Given the description of an element on the screen output the (x, y) to click on. 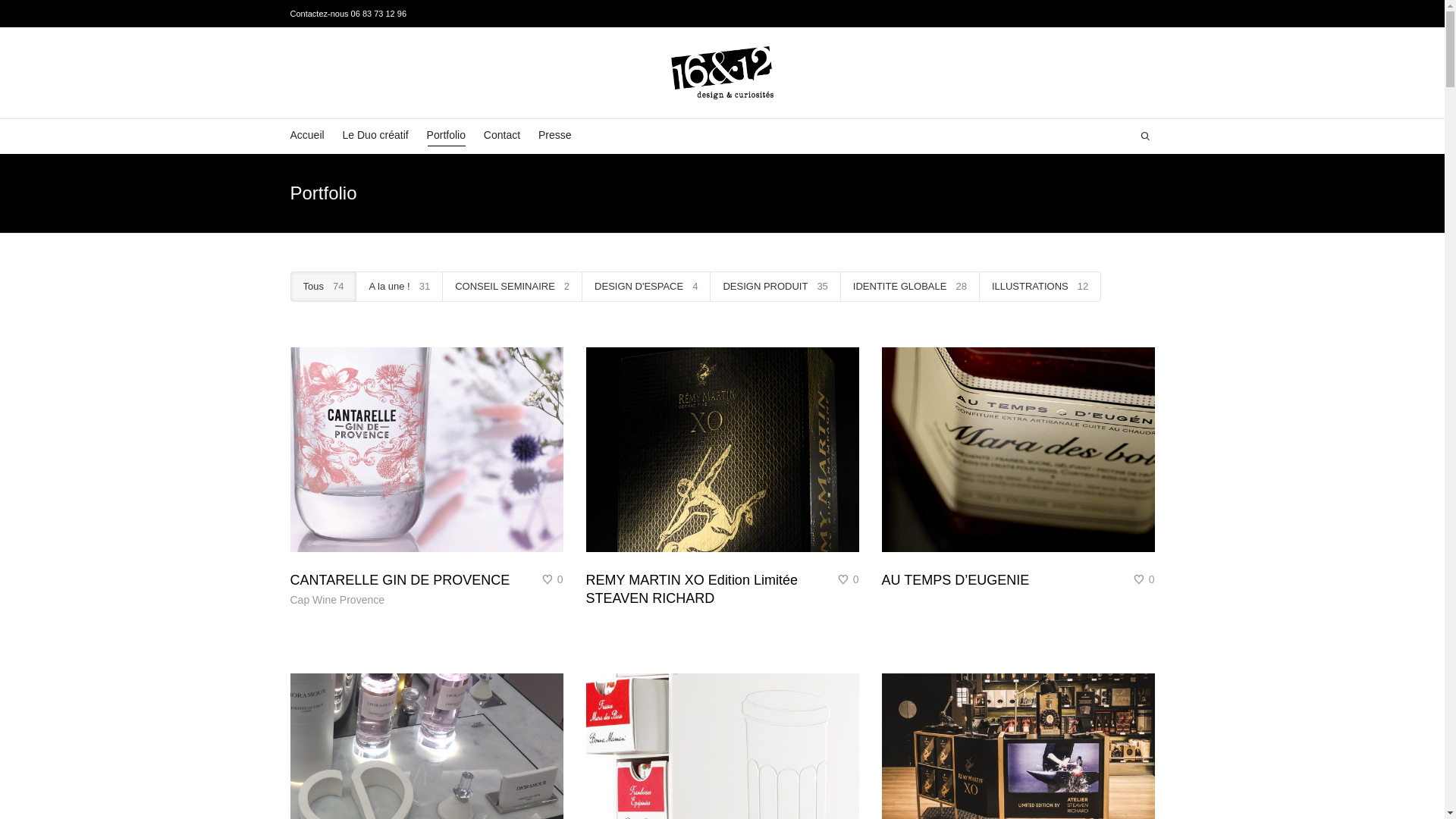
CANTARELLE GIN DE PROVENCE Element type: text (399, 579)
DESIGN PRODUIT
35 Element type: text (774, 286)
ILLUSTRATIONS
12 Element type: text (1040, 286)
Tous
74 Element type: text (322, 286)
Accueil Element type: text (306, 135)
DESIGN D'ESPACE
4 Element type: text (645, 286)
Portfolio Element type: text (445, 135)
Presse Element type: text (554, 135)
IDENTITE GLOBALE
28 Element type: text (909, 286)
CONSEIL SEMINAIRE
2 Element type: text (512, 286)
A la une !
31 Element type: text (398, 286)
Contact Element type: text (501, 135)
